Given the description of an element on the screen output the (x, y) to click on. 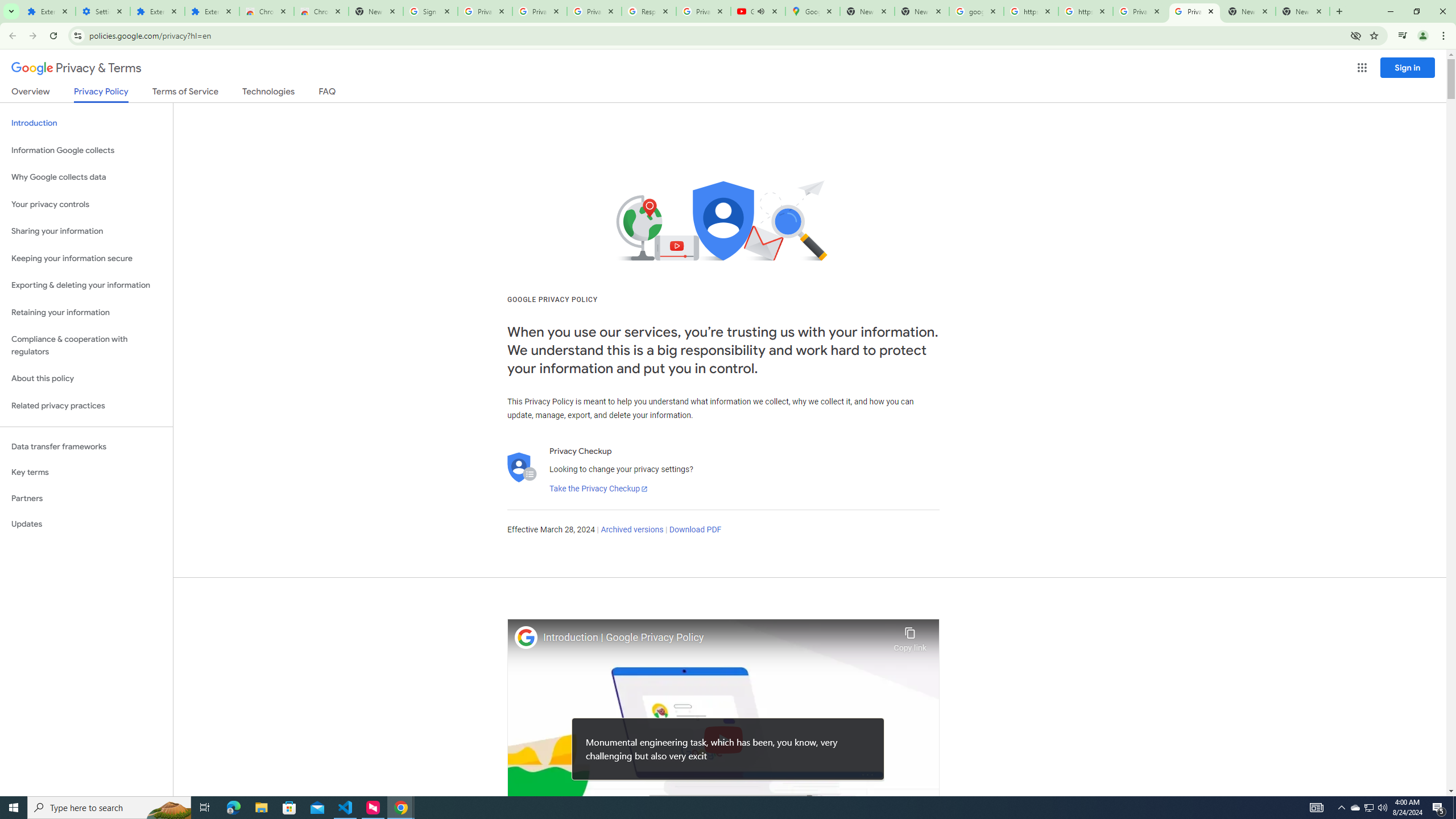
Sign in - Google Accounts (430, 11)
Chrome Web Store (266, 11)
Related privacy practices (86, 405)
https://scholar.google.com/ (1085, 11)
